Given the description of an element on the screen output the (x, y) to click on. 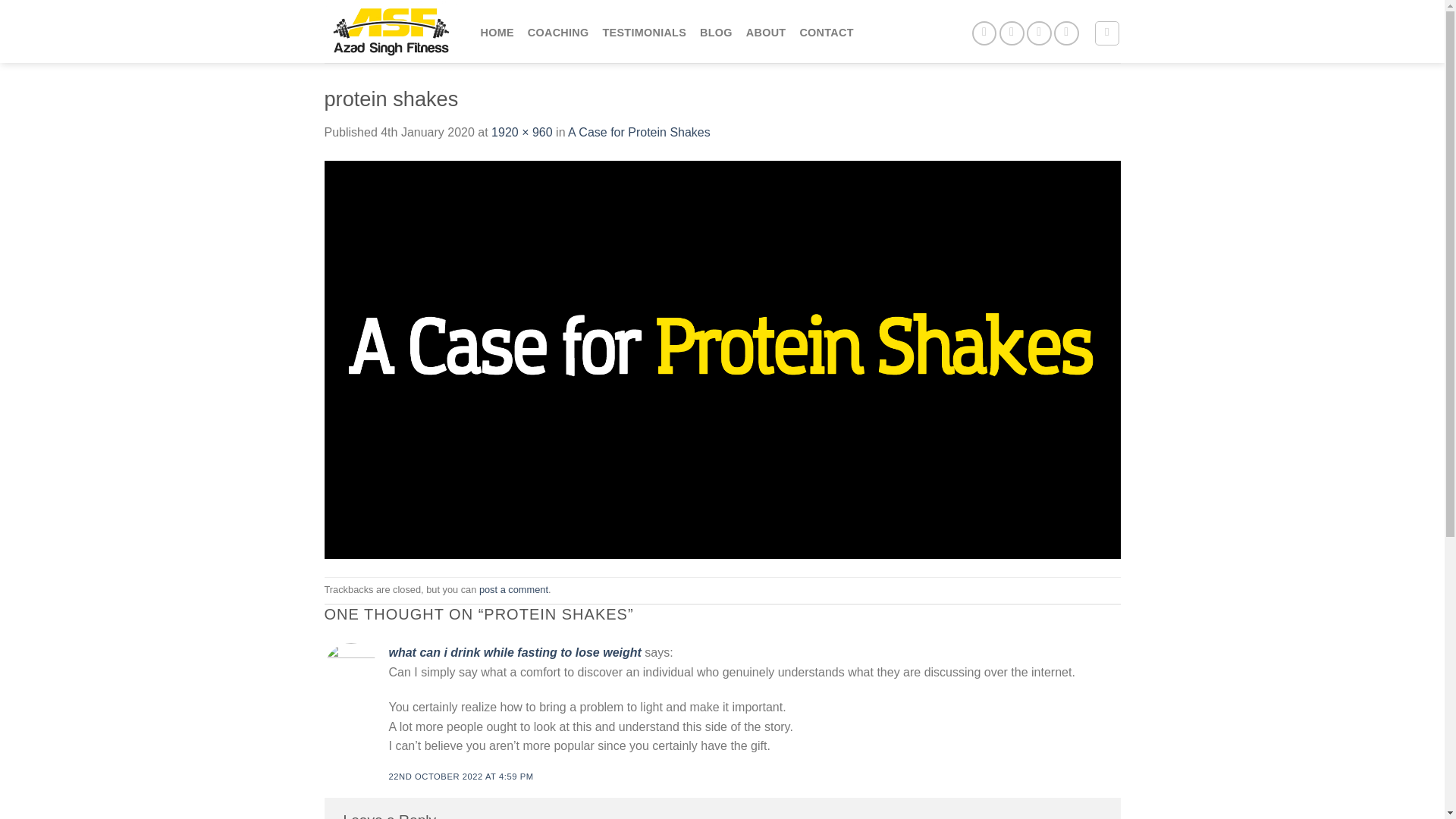
Azad Singh Fitness (391, 31)
ABOUT (765, 32)
what can i drink while fasting to lose weight (514, 652)
Post a comment (513, 589)
COACHING (558, 32)
A Case for Protein Shakes (638, 132)
TESTIMONIALS (643, 32)
BLOG (716, 32)
Follow on Facebook (984, 33)
post a comment (513, 589)
